Given the description of an element on the screen output the (x, y) to click on. 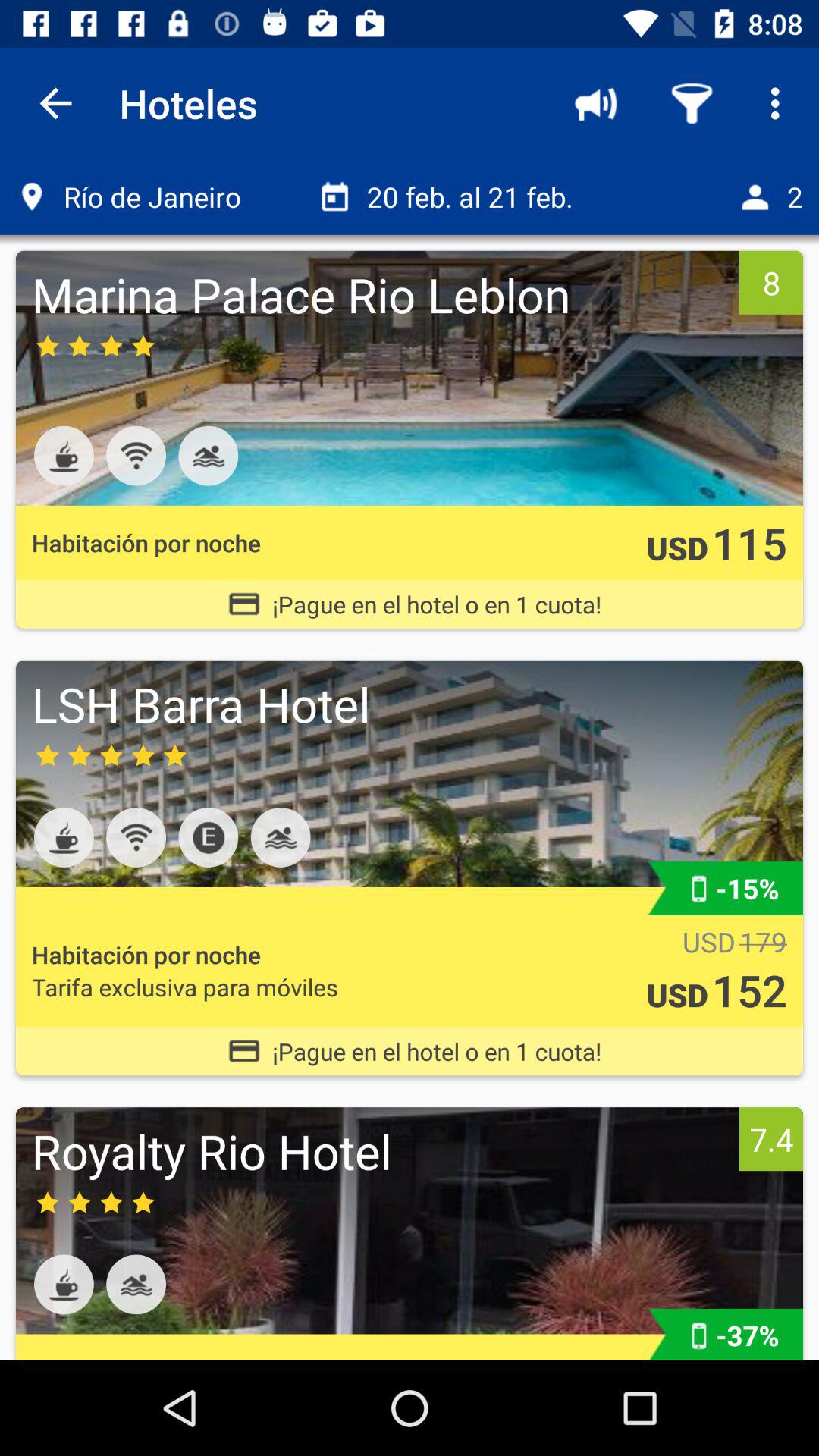
launch the icon above 20 feb al item (595, 103)
